Given the description of an element on the screen output the (x, y) to click on. 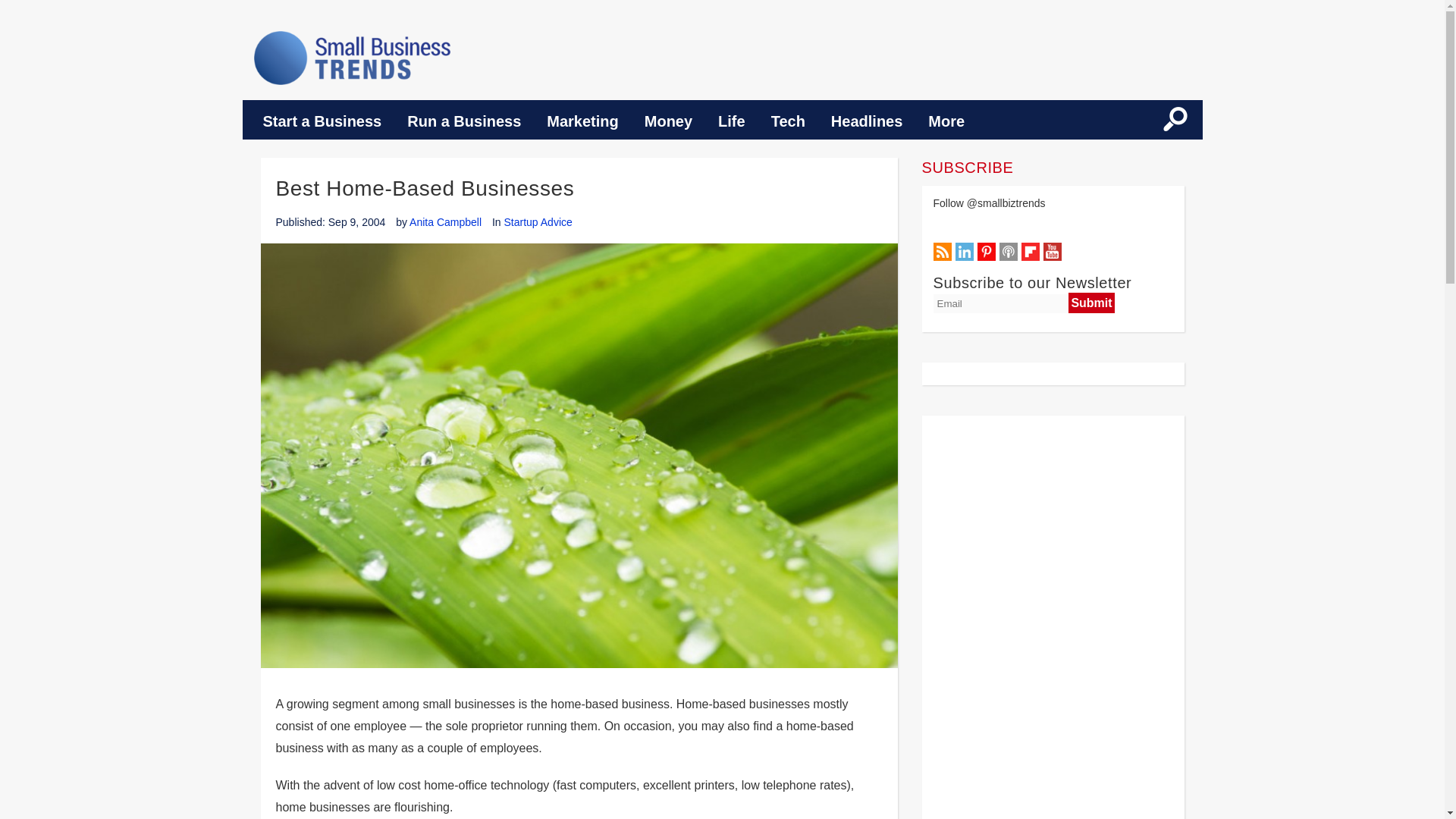
View all articles in Startup Advice (537, 222)
Posts by Anita Campbell (445, 222)
Small Business Trends (351, 58)
Marketing (582, 121)
Start a Business (322, 121)
Small Business Trends (351, 58)
Run a Business (464, 121)
Headlines (866, 121)
Money (667, 121)
Businesses For Sale (1052, 618)
Tech (788, 121)
Life (731, 121)
